Given the description of an element on the screen output the (x, y) to click on. 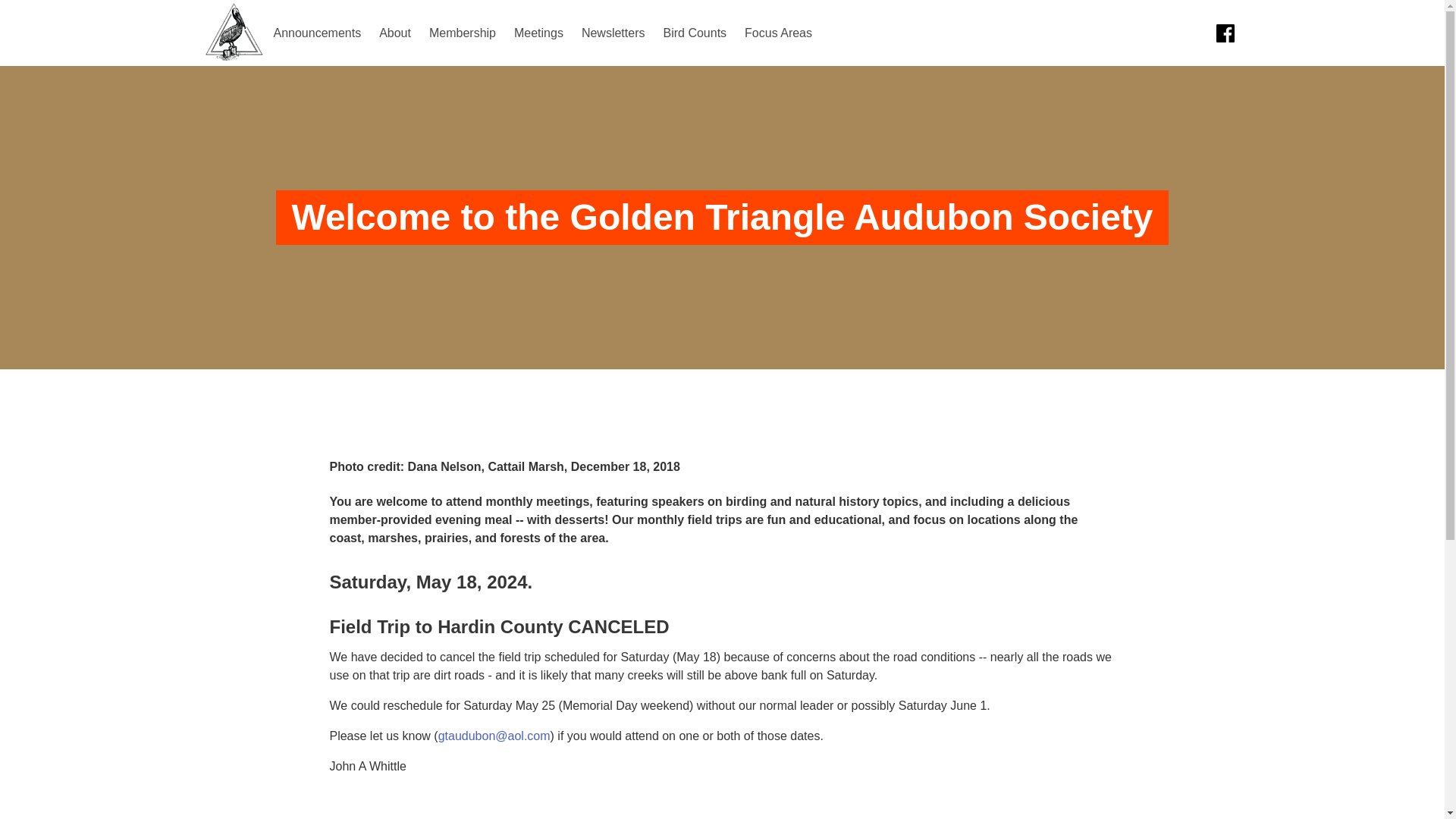
Announcements (316, 33)
Focus Areas (778, 33)
Meetings (538, 33)
Newsletters (612, 33)
Bird Counts (694, 33)
Membership (462, 33)
